Given the description of an element on the screen output the (x, y) to click on. 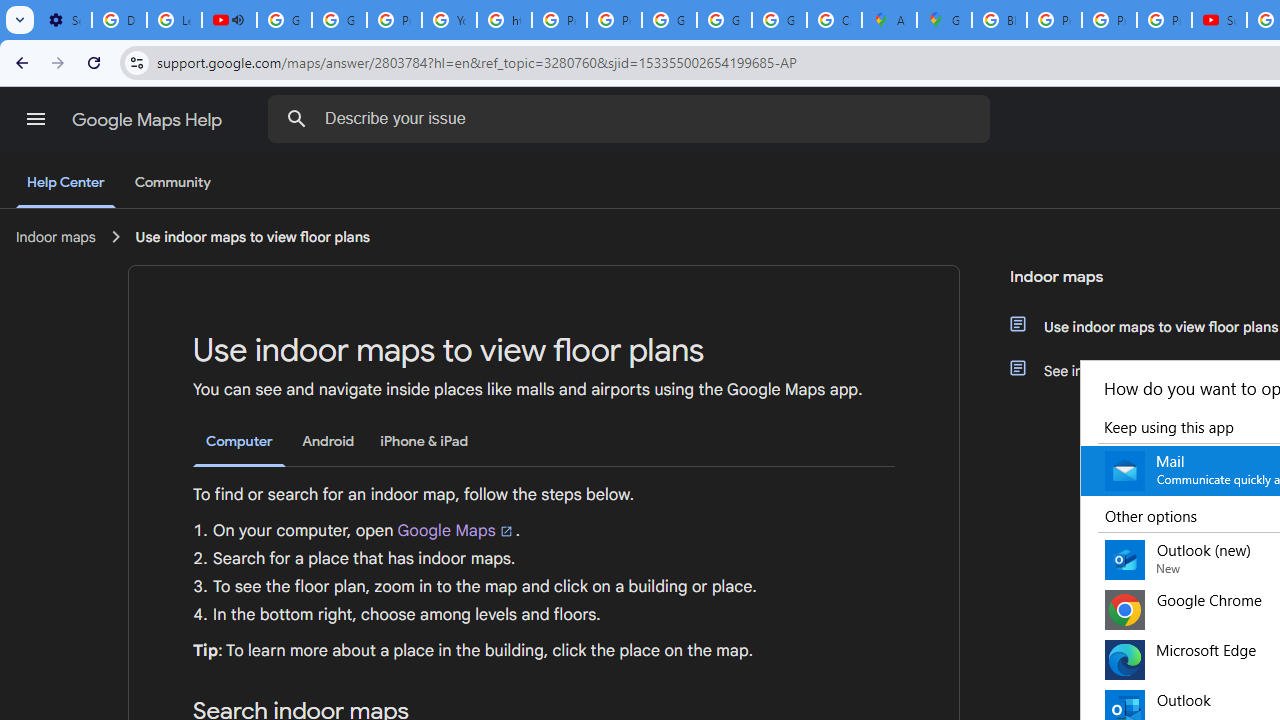
Use indoor maps to view floor plans (251, 237)
Android (328, 441)
Search Help Center (297, 118)
Google Maps (455, 530)
Google Maps Help (148, 119)
Main menu (35, 119)
Help Center (65, 183)
